Given the description of an element on the screen output the (x, y) to click on. 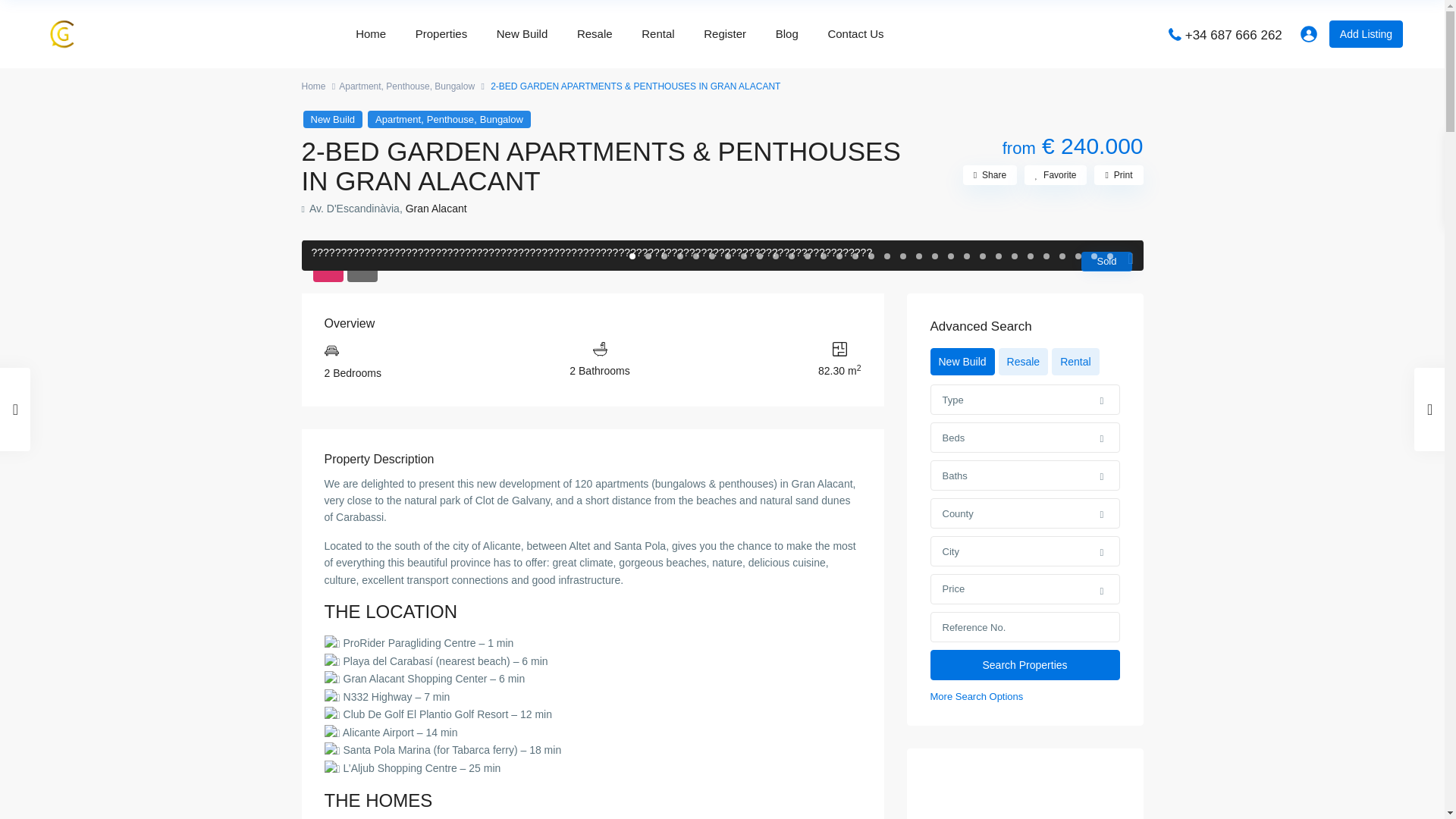
Properties (441, 33)
New Build (521, 33)
Home (370, 33)
Add Listing (1366, 33)
Contact Us (855, 33)
Register (725, 33)
Search Properties (1024, 665)
Rental (657, 33)
Blog (786, 33)
Resale (595, 33)
